Given the description of an element on the screen output the (x, y) to click on. 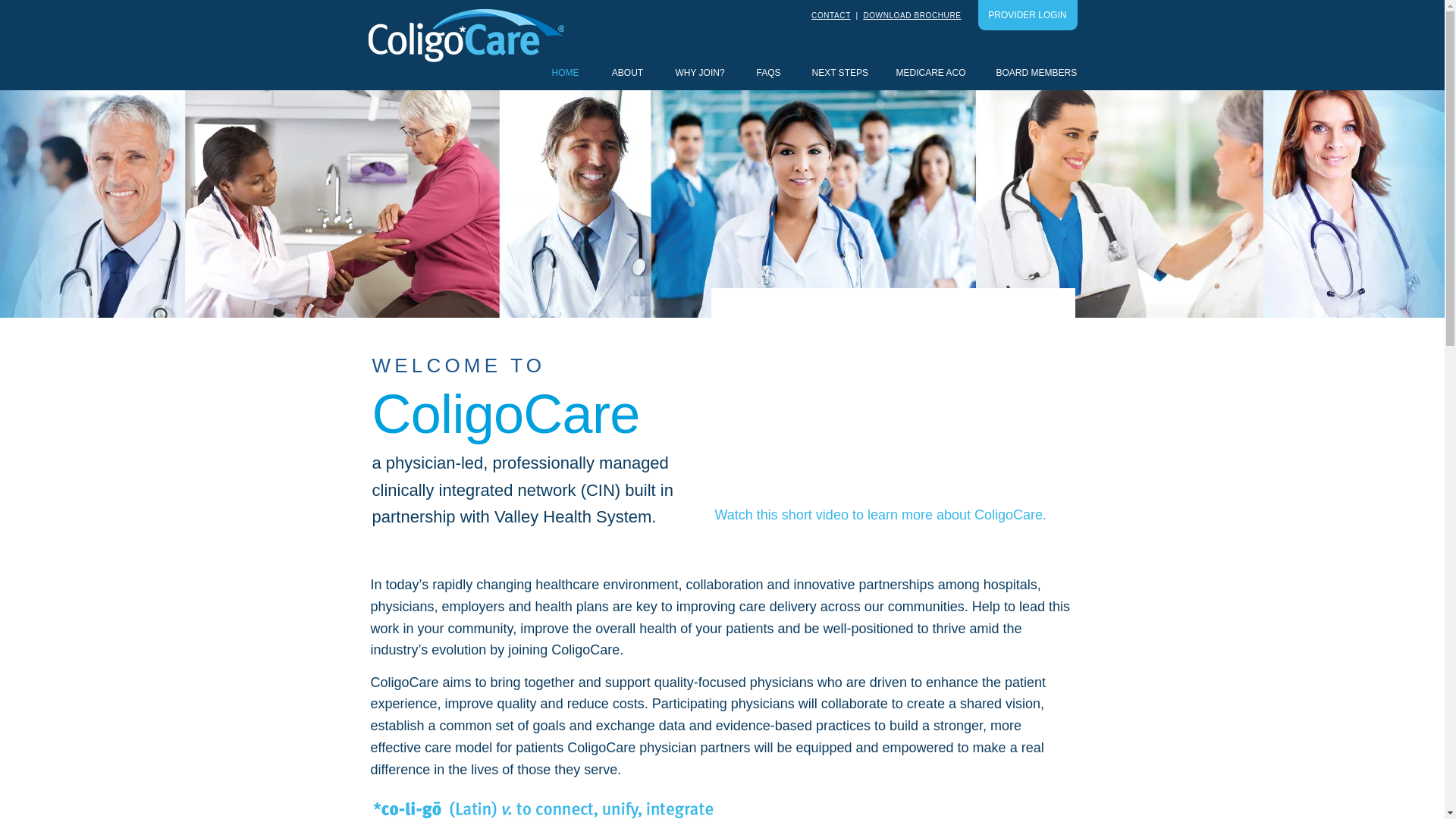
External YouTube (893, 392)
HOME (565, 72)
WHY JOIN? (700, 72)
ABOUT (627, 72)
DOWNLOAD BROCHURE (911, 15)
PROVIDER LOGIN (1027, 15)
NEXT STEPS (838, 72)
CONTACT (830, 15)
FAQS (767, 72)
BOARD MEMBERS (1036, 72)
MEDICARE ACO (930, 72)
